Given the description of an element on the screen output the (x, y) to click on. 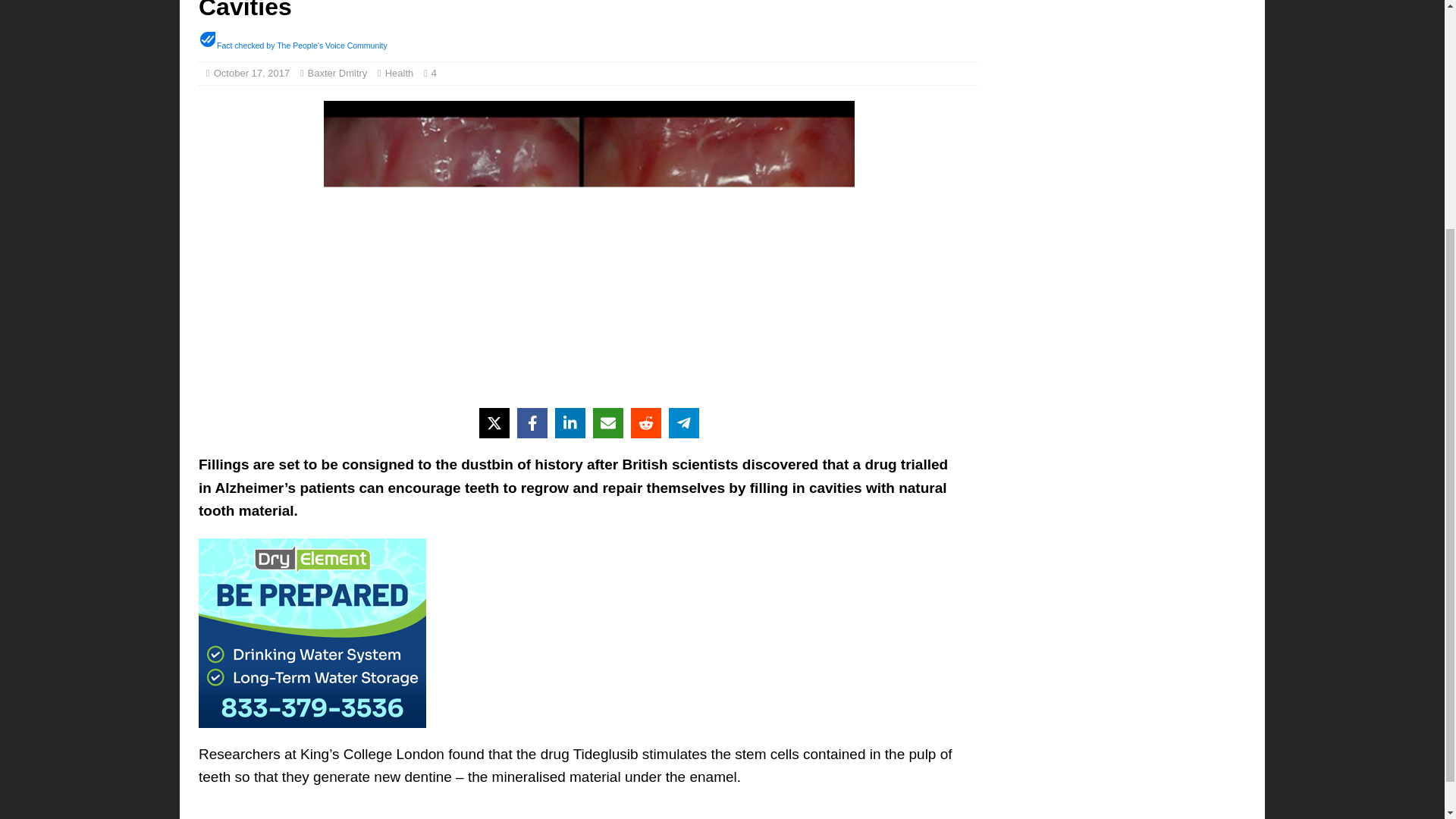
Fact checked by The People's Voice Community (301, 44)
4 (437, 72)
October 17, 2017 (251, 72)
Health (399, 72)
Baxter Dmitry (337, 72)
